Given the description of an element on the screen output the (x, y) to click on. 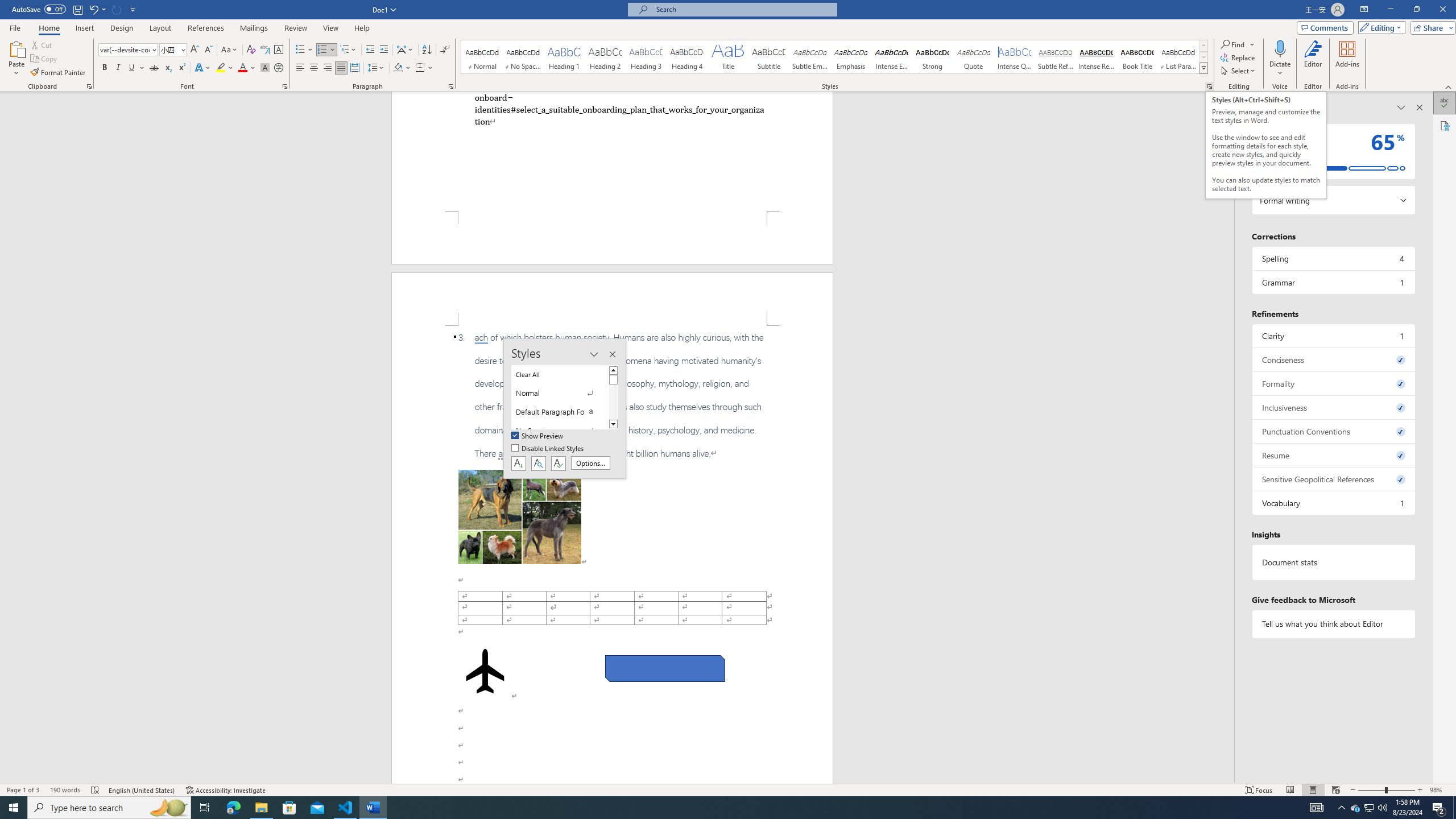
Align Left (300, 67)
Numbering (322, 49)
Microsoft search (742, 9)
Review (295, 28)
Task Pane Options (1400, 107)
Font Color (246, 67)
Morphological variation in six dogs (519, 517)
Find (1237, 44)
Copy (45, 58)
Zoom In (1420, 790)
Header -Section 1- (611, 298)
Editing (1379, 27)
Normal (559, 393)
Minimize (1390, 9)
Italic (118, 67)
